Given the description of an element on the screen output the (x, y) to click on. 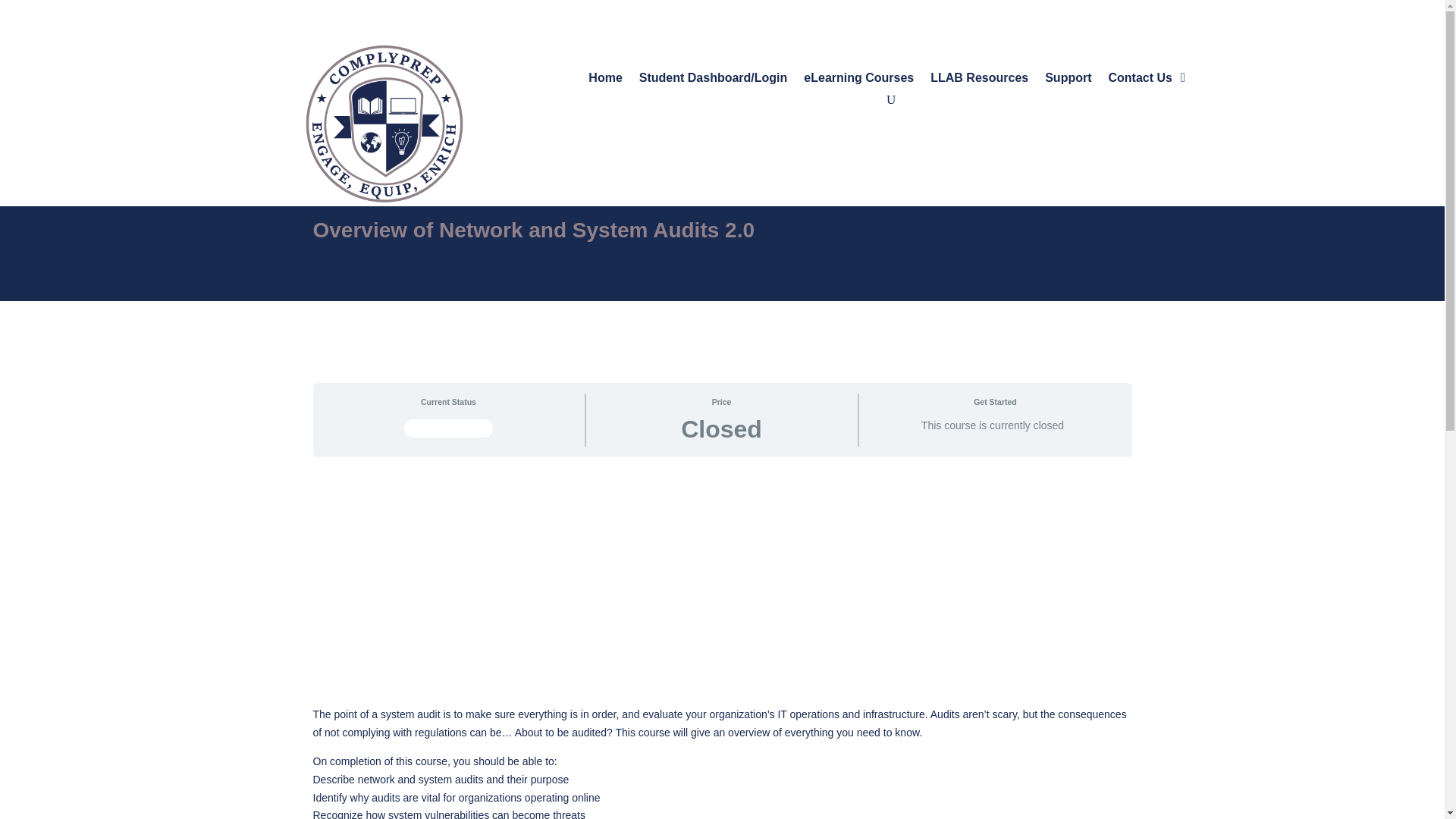
Contact Us (1140, 81)
Home (604, 81)
Support (1067, 81)
12 (384, 122)
LLAB Resources (978, 81)
eLearning Courses (858, 81)
